Given the description of an element on the screen output the (x, y) to click on. 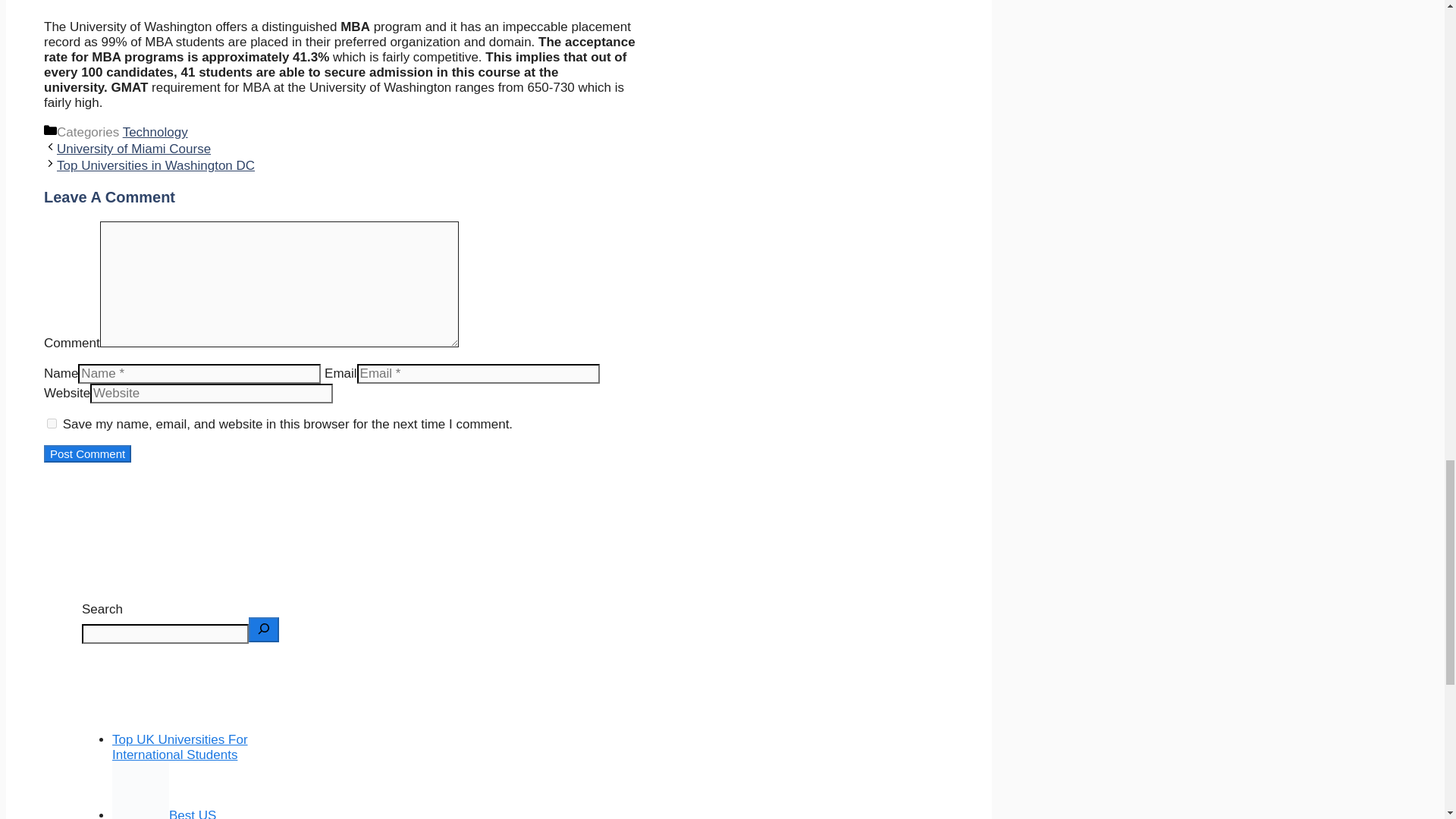
Technology (154, 132)
Post Comment (87, 453)
yes (51, 423)
University of Miami Course (133, 148)
Best US Universities for International Students (192, 813)
Top UK Universities For International Students (179, 747)
Top Universities in Washington DC (155, 165)
Post Comment (87, 453)
